Given the description of an element on the screen output the (x, y) to click on. 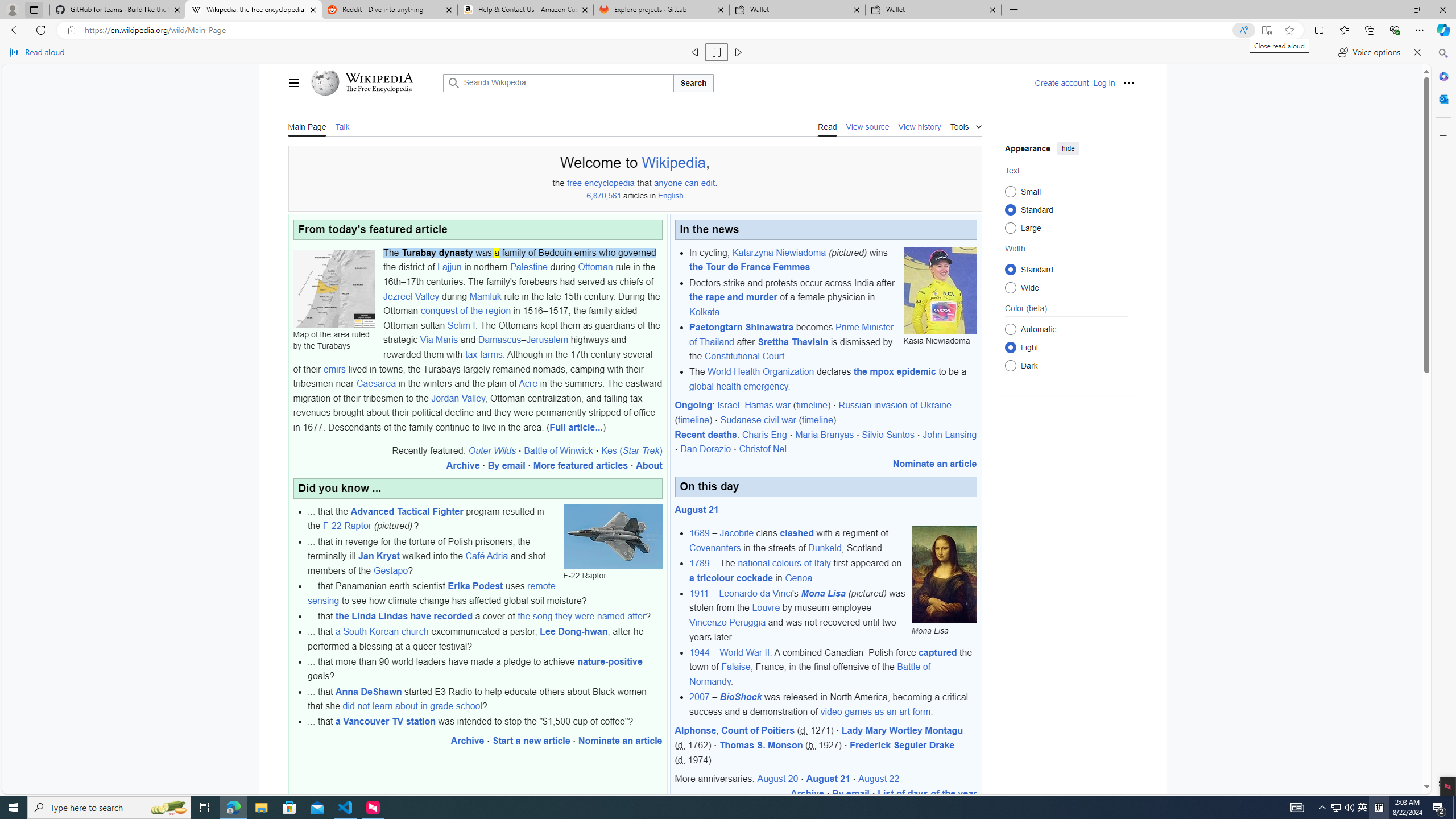
the Linda Lindas have recorded (403, 615)
Alphonse, Count of Poitiers (734, 730)
clashed (796, 533)
Sudanese civil war (758, 420)
a tricolour cockade (730, 577)
free (574, 182)
Start a new article (531, 740)
Map of the area ruled by the Turabays (333, 288)
conquest of the region (465, 311)
